Given the description of an element on the screen output the (x, y) to click on. 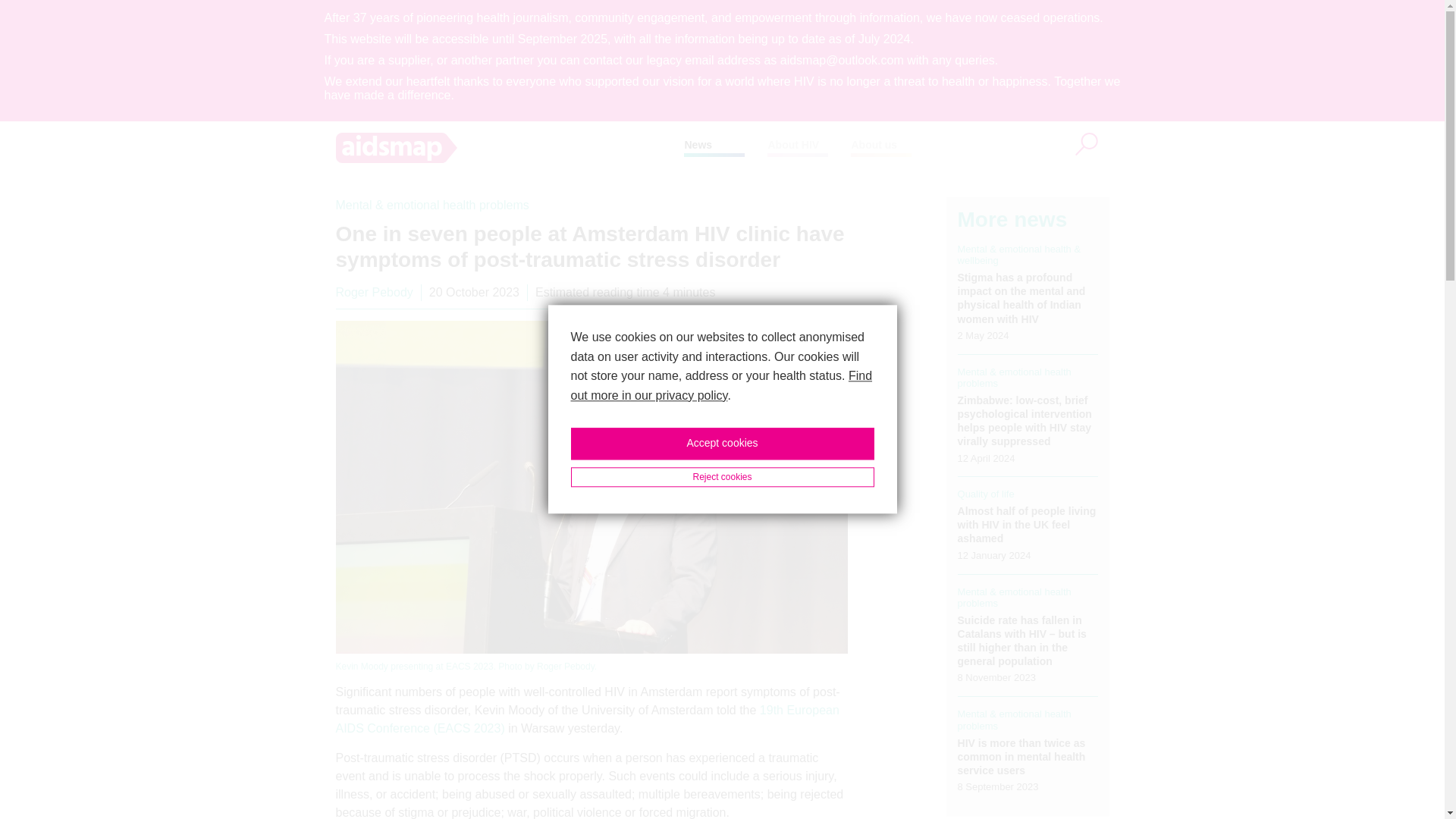
Home (509, 147)
Roger Pebody (373, 291)
About HIV (792, 144)
Quality of life (986, 493)
News (697, 144)
About us (873, 144)
Almost half of people living with HIV in the UK feel ashamed (1027, 524)
